Given the description of an element on the screen output the (x, y) to click on. 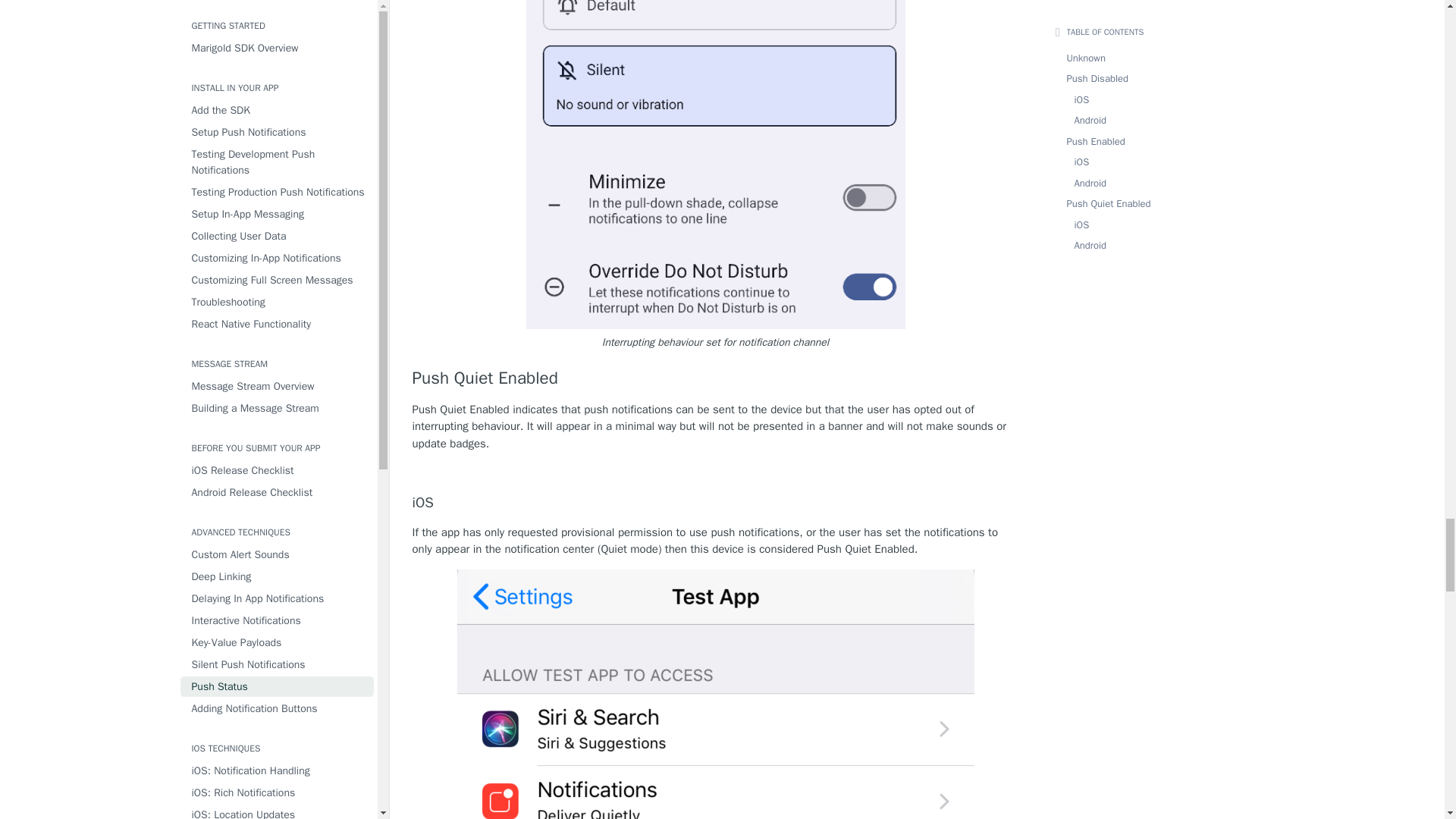
Screen Shot 2019-01-08 at 11.08.11 AM.png (715, 694)
Screen Shot 2019-01-08 at 11.11.26 AM.png (715, 164)
Push Quiet Enabled (715, 378)
iOS (715, 502)
